Given the description of an element on the screen output the (x, y) to click on. 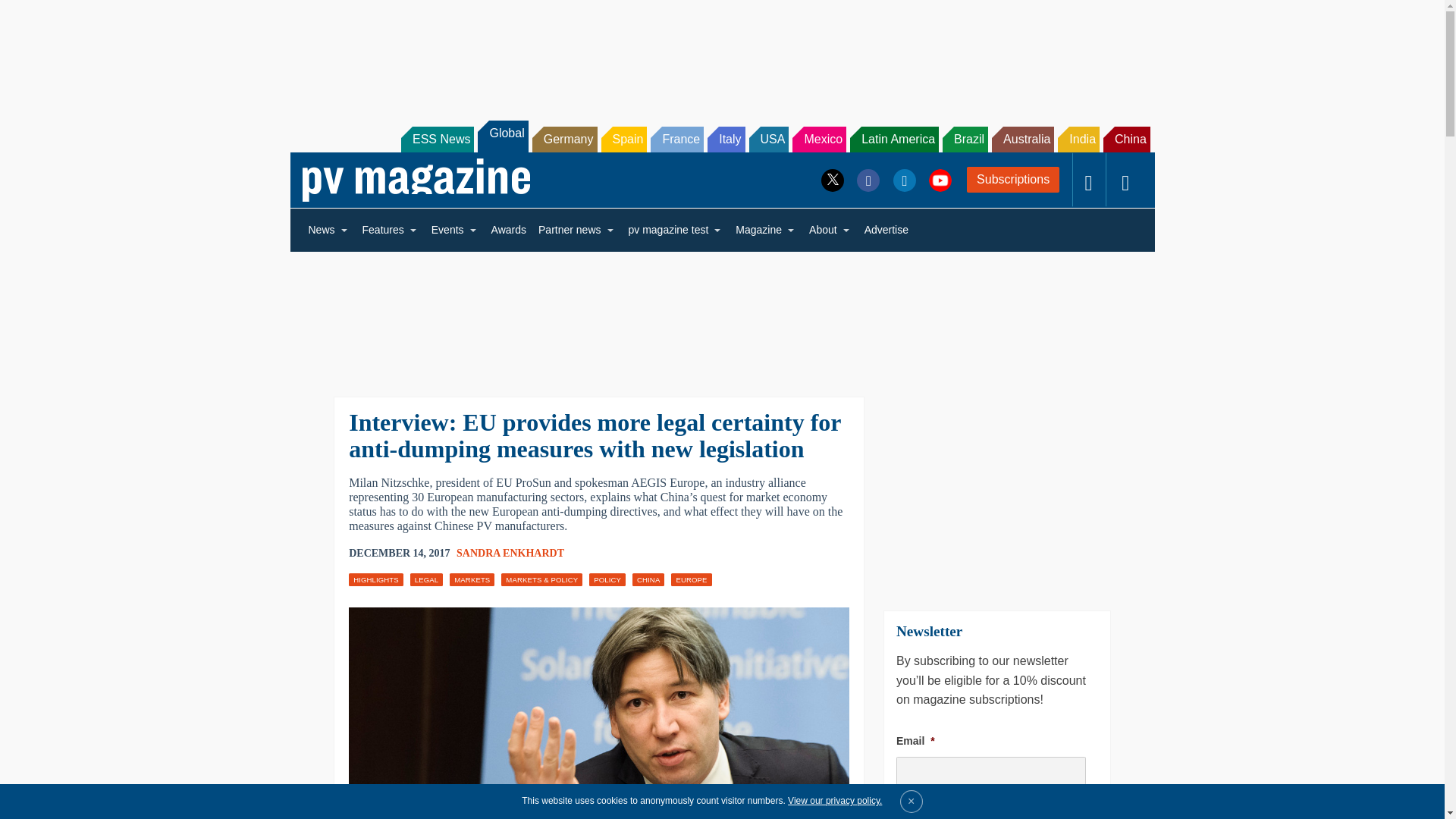
Germany (564, 139)
Global (502, 136)
ESS News (437, 139)
France (676, 139)
Thursday, December 14, 2017, 3:21 pm (399, 553)
pv magazine - Photovoltaics Markets and Technology (415, 179)
Brazil (965, 139)
Posts by Sandra Enkhardt (510, 552)
3rd party ad content (721, 51)
Italy (725, 139)
